Given the description of an element on the screen output the (x, y) to click on. 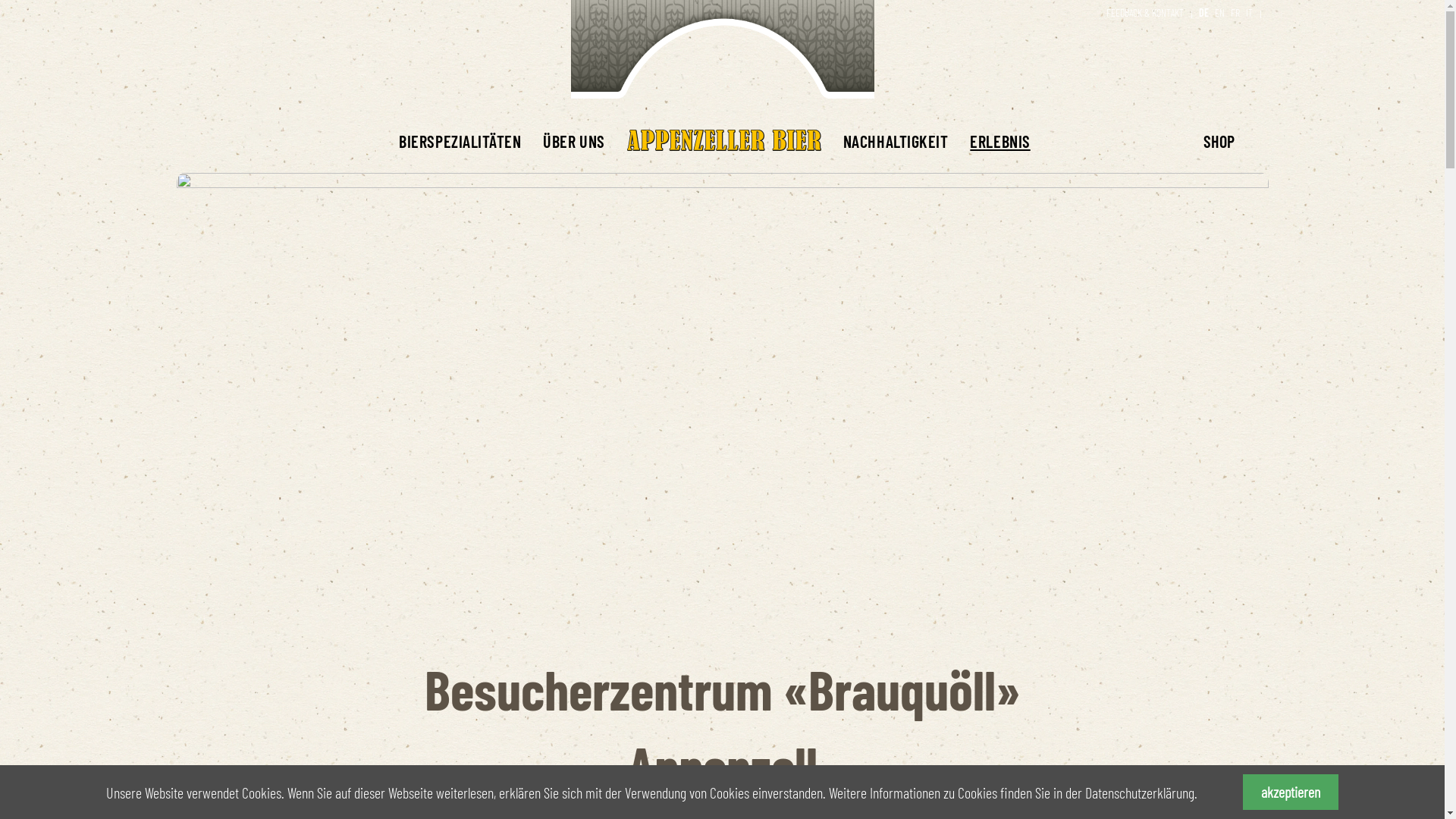
IT Element type: text (1248, 12)
SHOP Element type: text (1234, 141)
ERLEBNIS Element type: text (999, 140)
FEEDBACK & KONTAKT Element type: text (1144, 12)
FR Element type: text (1234, 12)
EN Element type: text (1219, 12)
NACHHALTIGKEIT Element type: text (895, 140)
akzeptieren Element type: text (1290, 791)
